Given the description of an element on the screen output the (x, y) to click on. 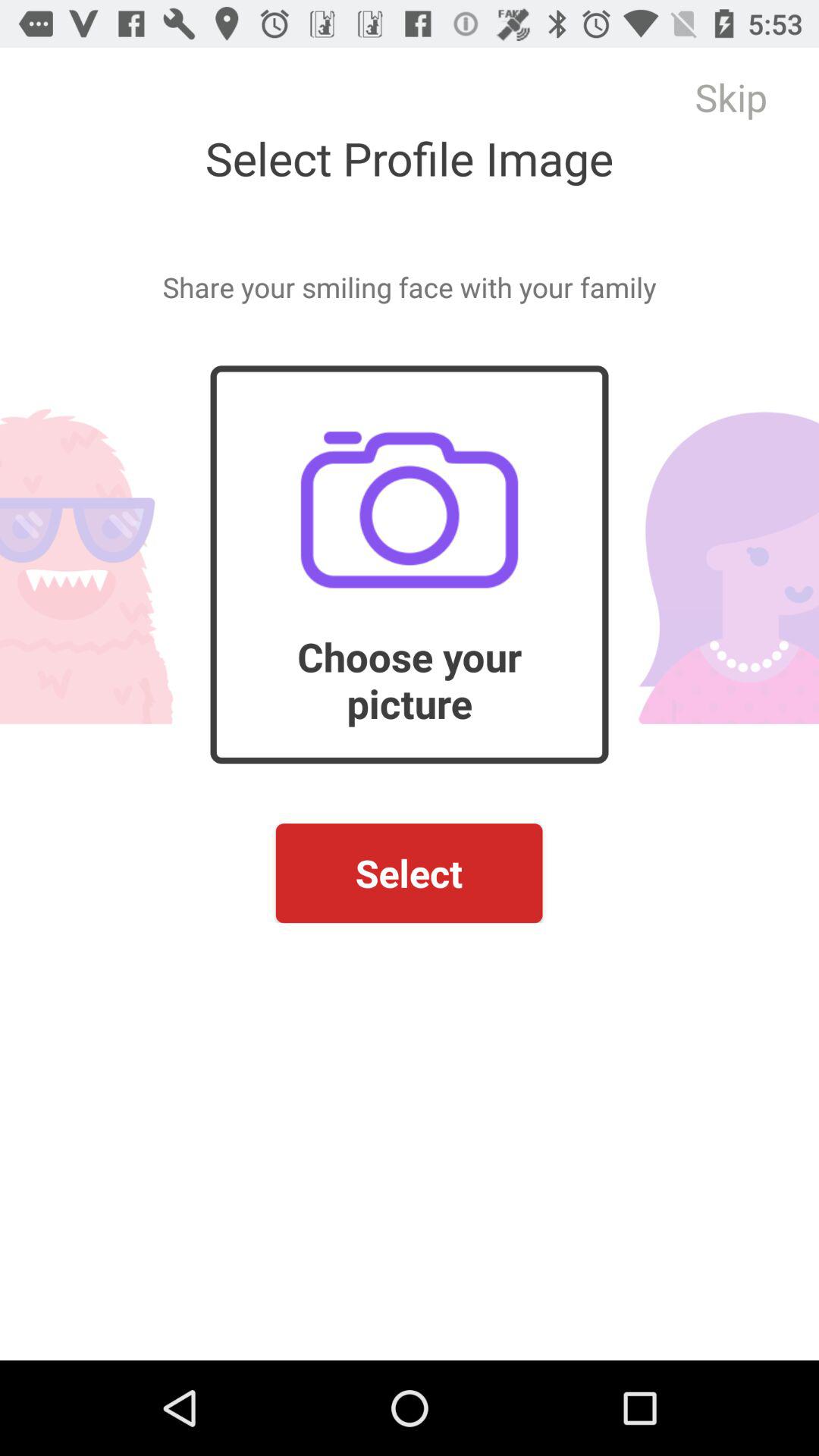
click the item at the top right corner (731, 97)
